Given the description of an element on the screen output the (x, y) to click on. 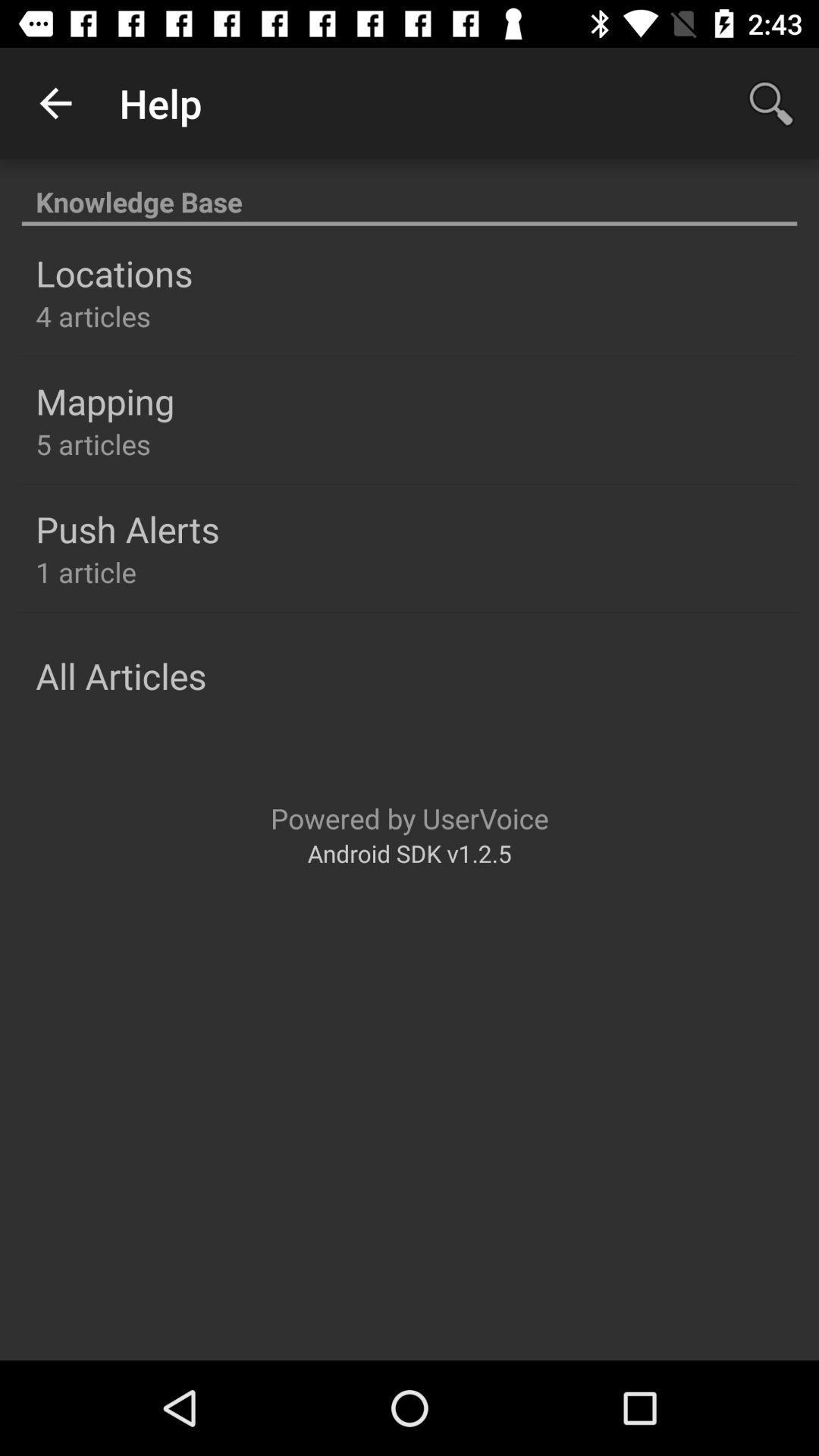
launch the 1 article item (85, 571)
